Given the description of an element on the screen output the (x, y) to click on. 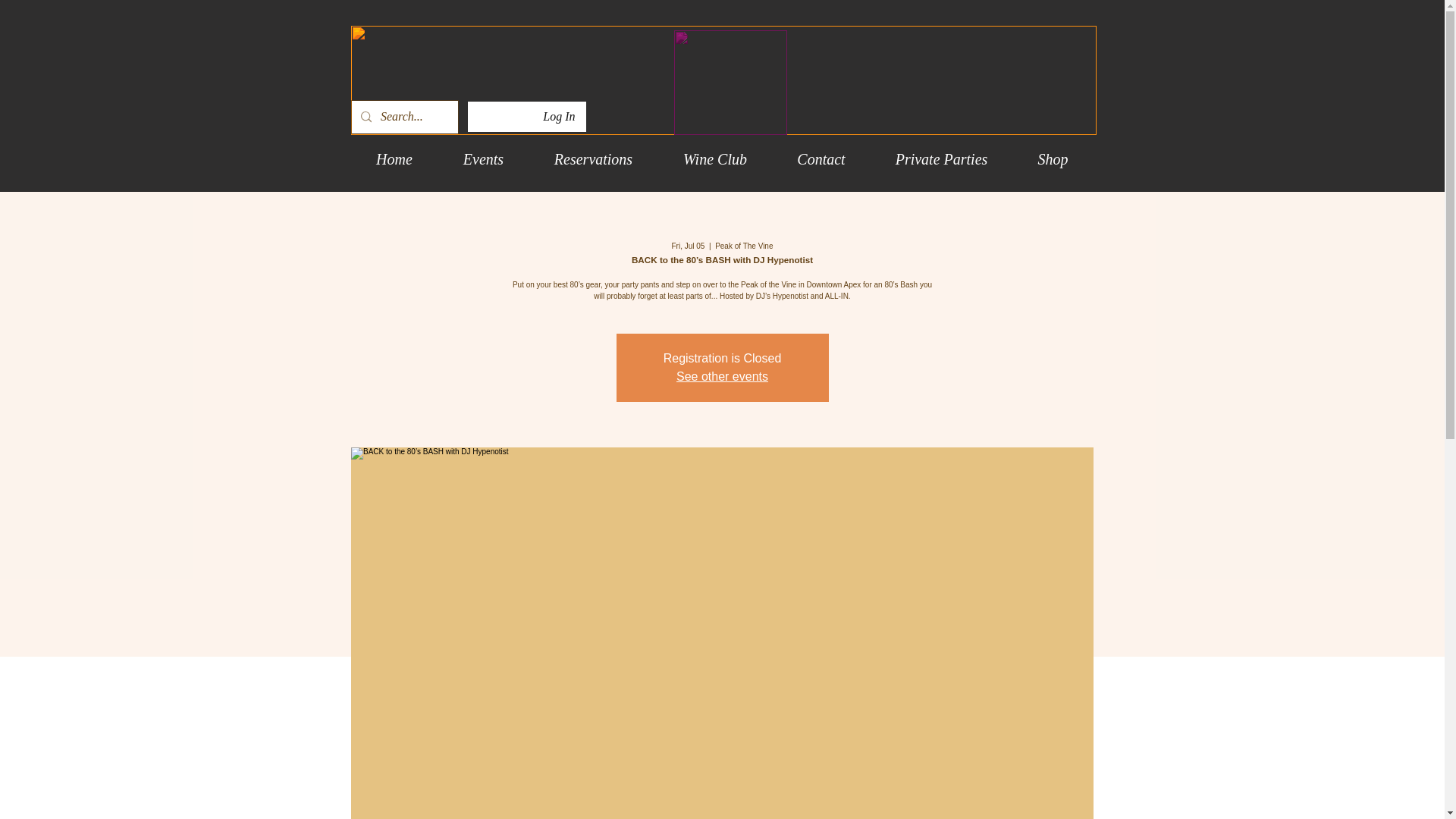
Shop (1053, 159)
Log In (558, 116)
Private Parties (941, 159)
Reservations (593, 159)
Contact (820, 159)
Wine Club (715, 159)
Peak of the Vine Logo black no background.png (729, 82)
Home (394, 159)
grapevine silhouette 4.jpg (723, 80)
See other events (722, 376)
